Given the description of an element on the screen output the (x, y) to click on. 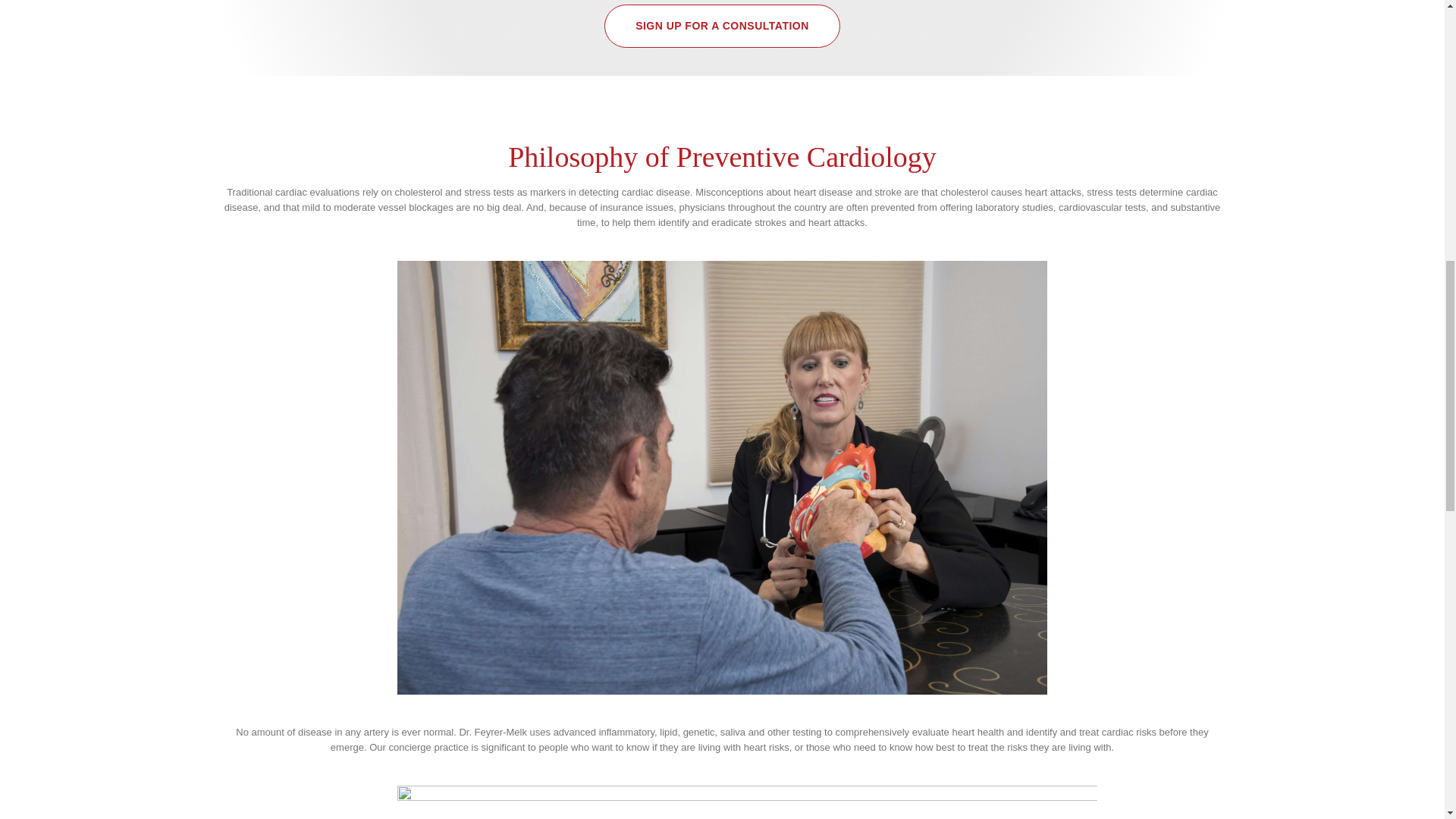
SIGN UP FOR A CONSULTATION (722, 25)
